Given the description of an element on the screen output the (x, y) to click on. 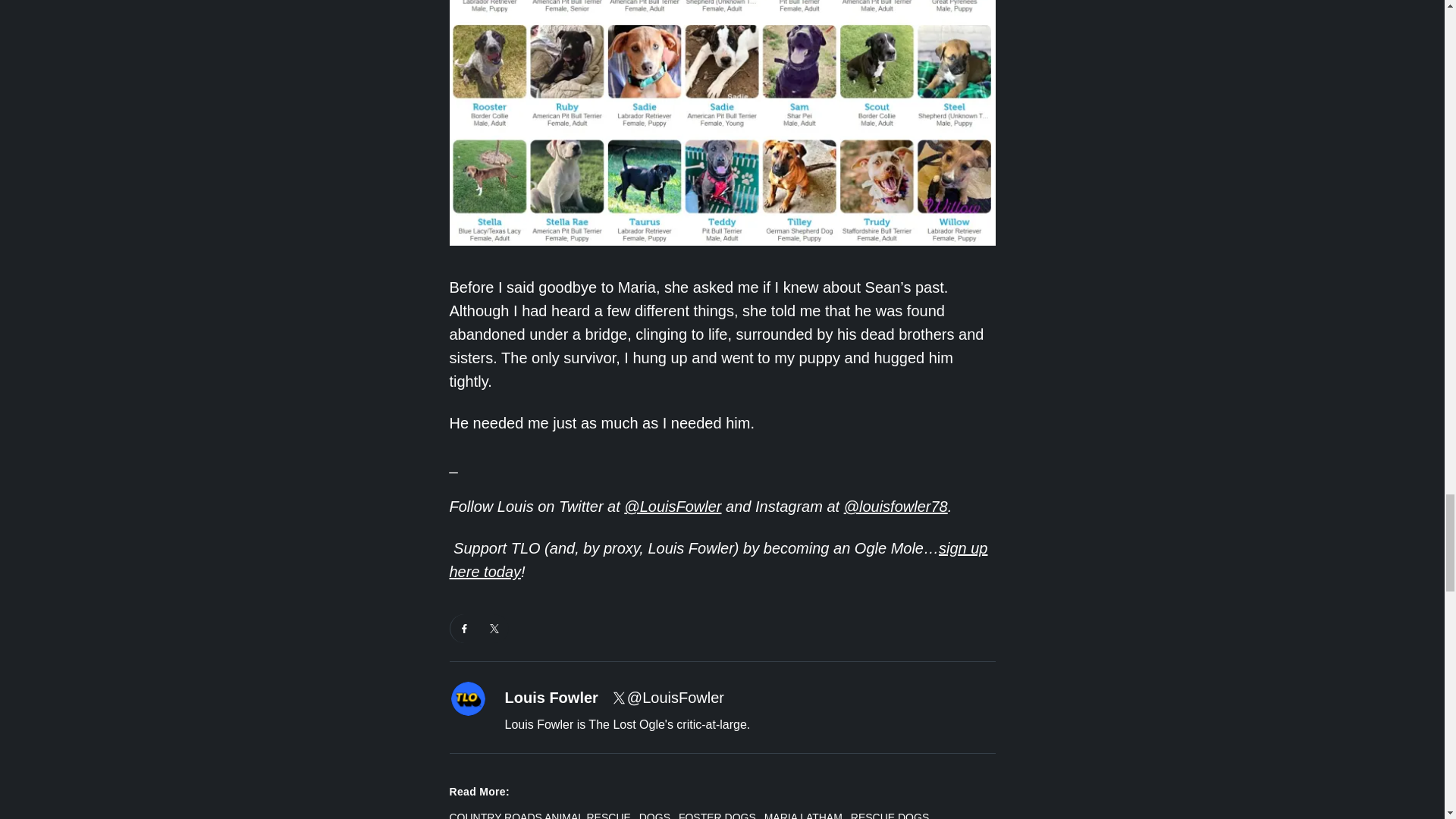
Share on Facebook (464, 628)
FOSTER DOGS (716, 814)
COUNTRY ROADS ANIMAL RESCUE (539, 814)
MARIA LATHAM (803, 814)
DOGS (654, 814)
sign up here today (717, 559)
Louis Fowler (551, 698)
